Given the description of an element on the screen output the (x, y) to click on. 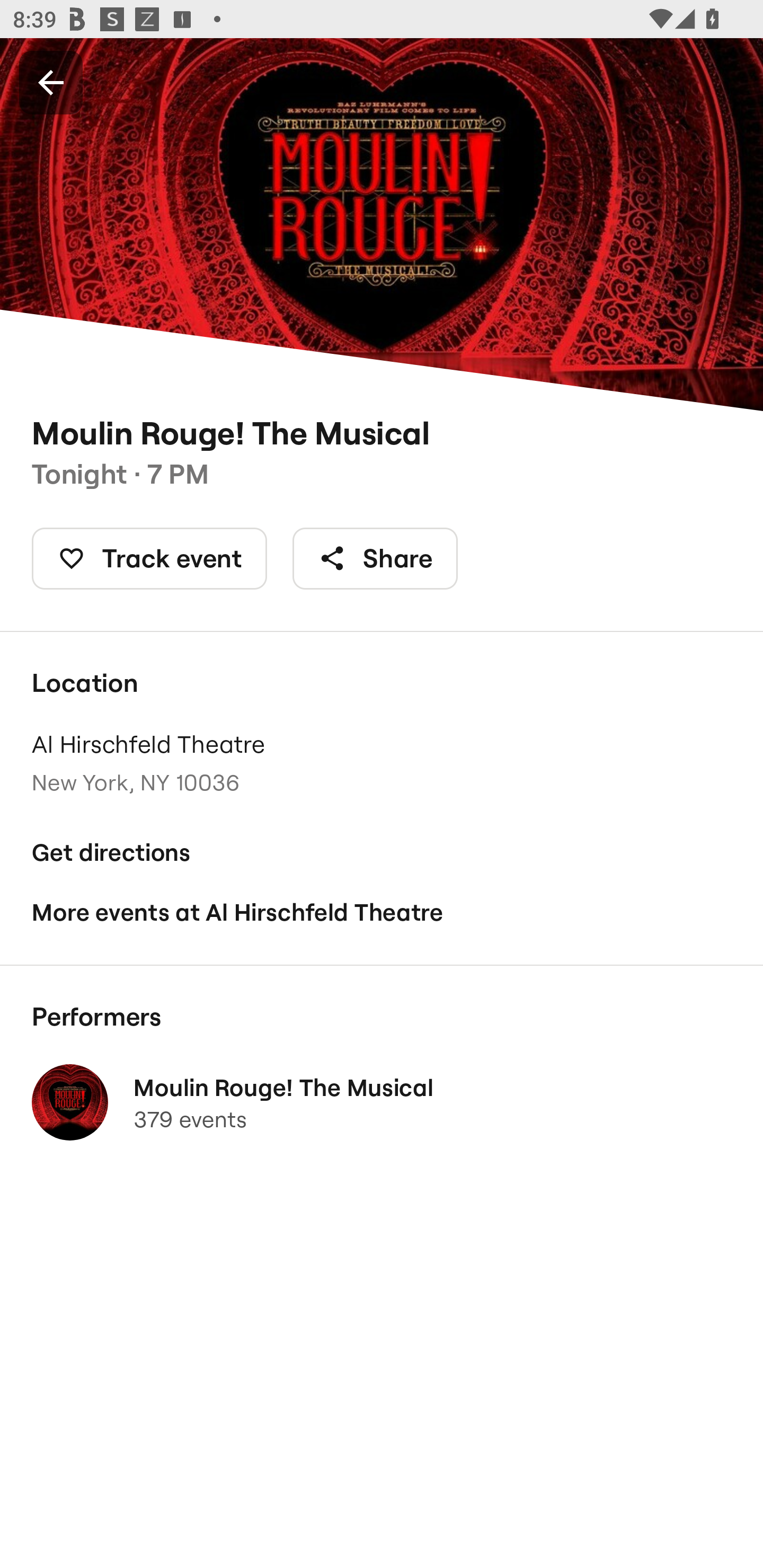
Back (50, 81)
Track event (149, 557)
Share (374, 557)
Get directions (381, 852)
More events at Al Hirschfeld Theatre (381, 912)
Moulin Rouge! The Musical 379 events (381, 1102)
